Given the description of an element on the screen output the (x, y) to click on. 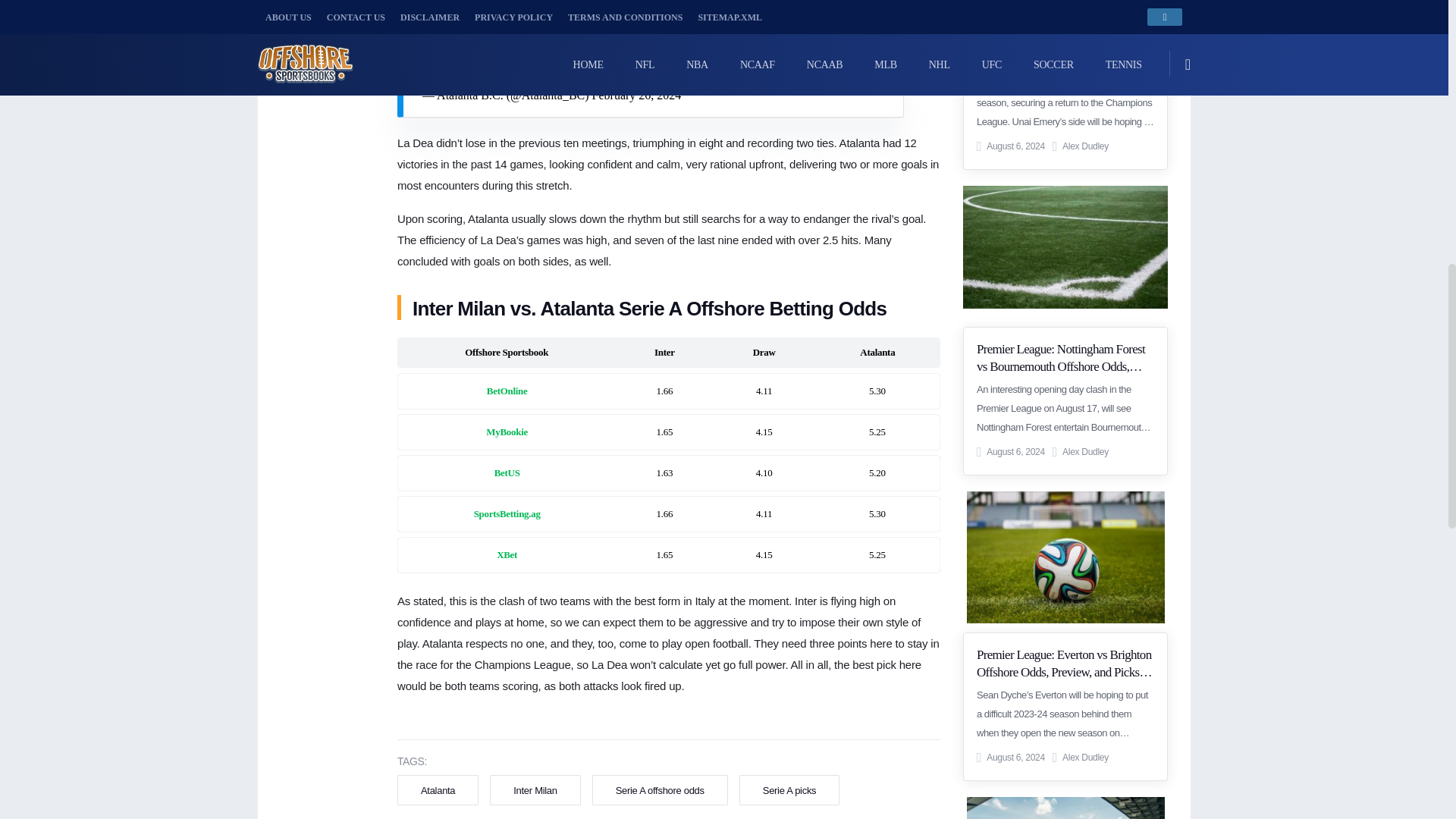
SportsBetting.ag (506, 513)
TWEET (319, 7)
MyBookie (506, 432)
February 26, 2024 (636, 93)
BetUS (506, 473)
BetOnline (506, 391)
